Given the description of an element on the screen output the (x, y) to click on. 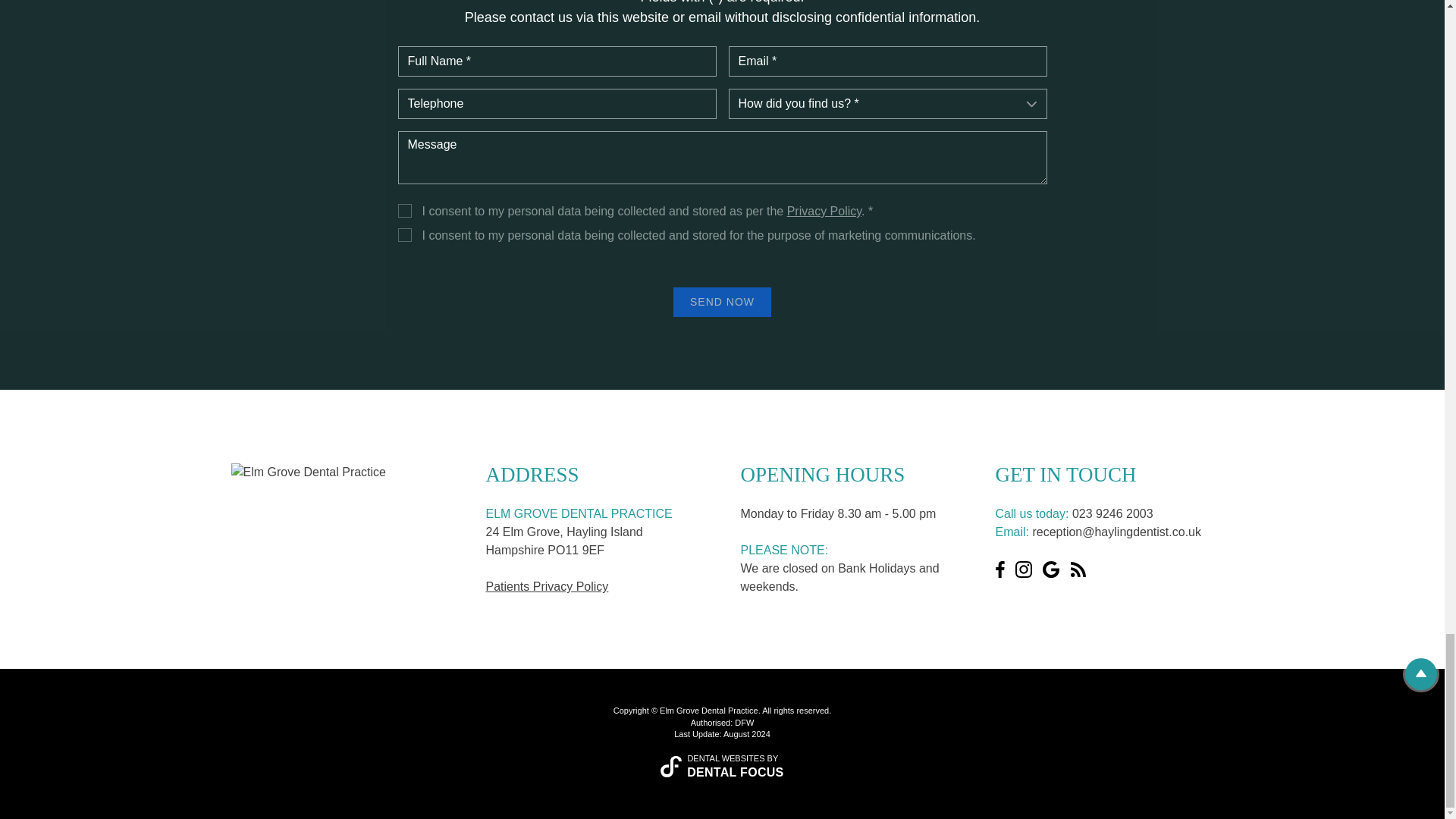
Send Now (721, 301)
Patients Privacy Policy (546, 585)
023 9246 2003 (1112, 513)
Yes (403, 210)
Instagram (1023, 568)
Privacy Policy (824, 210)
Telephone (556, 103)
Yes (403, 234)
Send Now (721, 301)
